Given the description of an element on the screen output the (x, y) to click on. 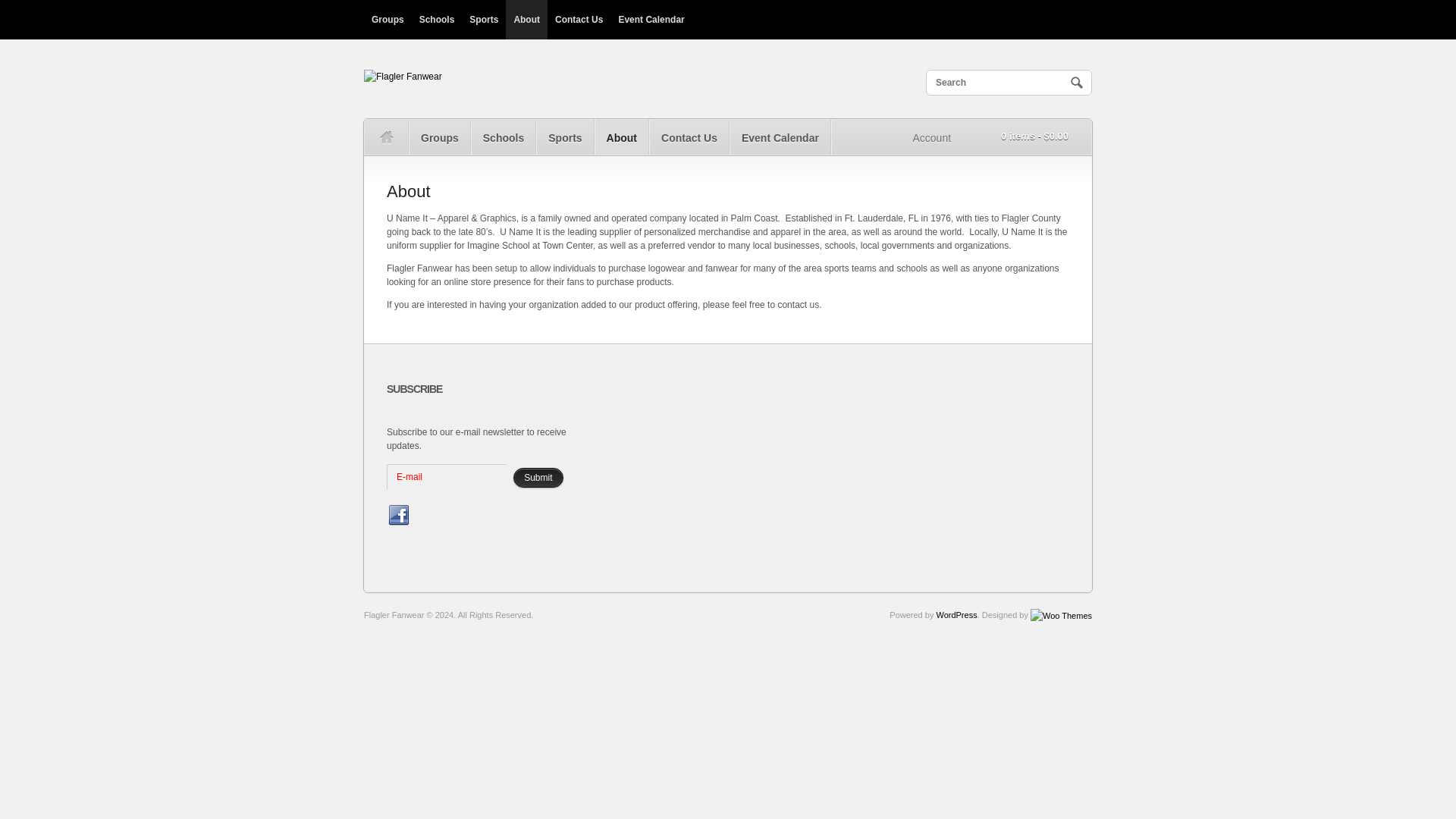
Sports (483, 19)
View your shopping cart (1023, 136)
Groups (439, 136)
WordPress (956, 614)
E-mail (446, 476)
My Account (931, 136)
Search (1076, 82)
Contact Us (578, 19)
Sports (564, 136)
Groups (388, 19)
